Given the description of an element on the screen output the (x, y) to click on. 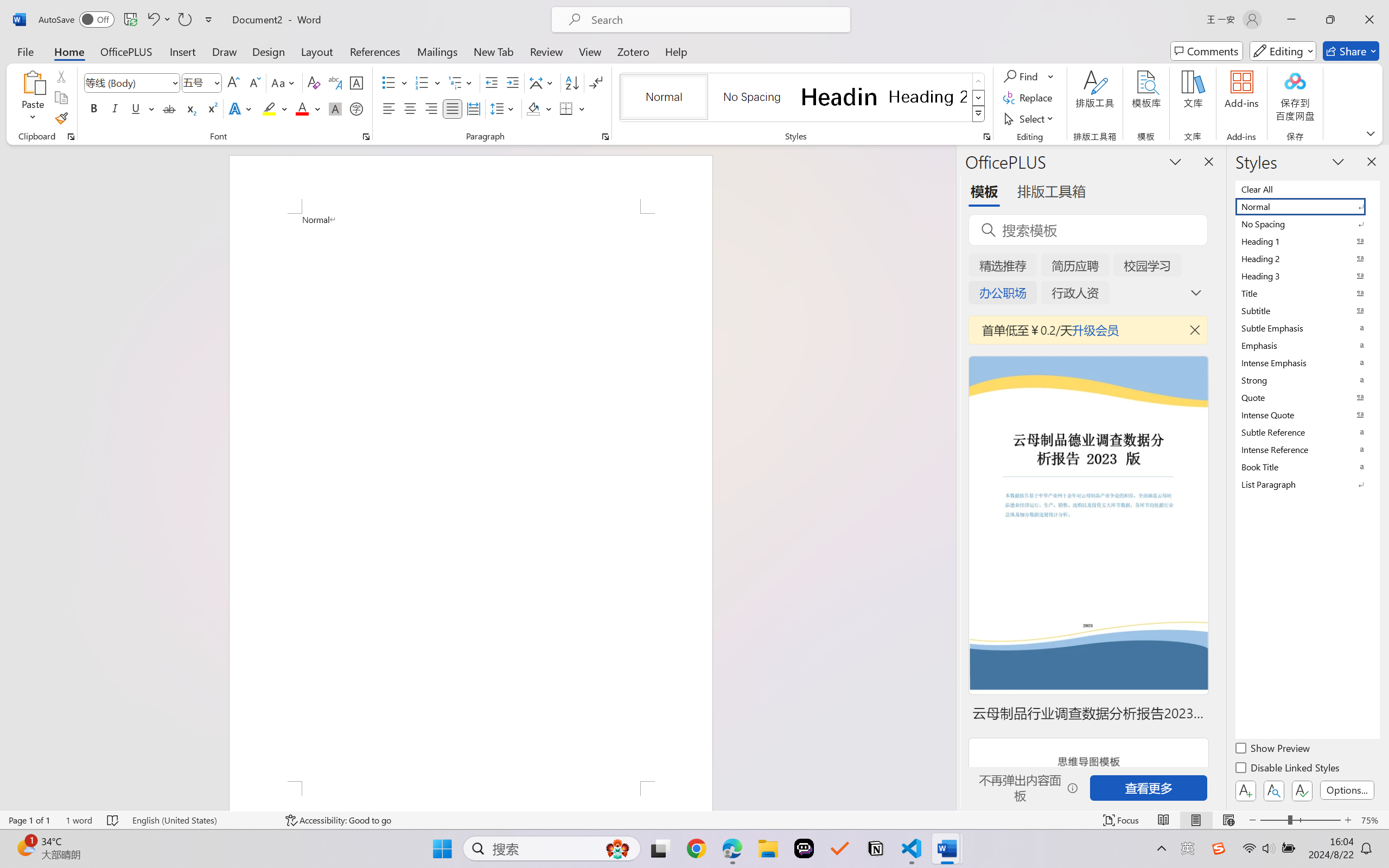
Italic (115, 108)
Disable Linked Styles (1287, 769)
Heading 2 (927, 96)
Borders (566, 108)
Font (126, 82)
Numbering (421, 82)
Multilevel List (461, 82)
Paste (33, 81)
Bold (94, 108)
Borders (571, 108)
Quote (1306, 397)
Quick Access Toolbar (127, 19)
Bullets (388, 82)
Underline (135, 108)
